Given the description of an element on the screen output the (x, y) to click on. 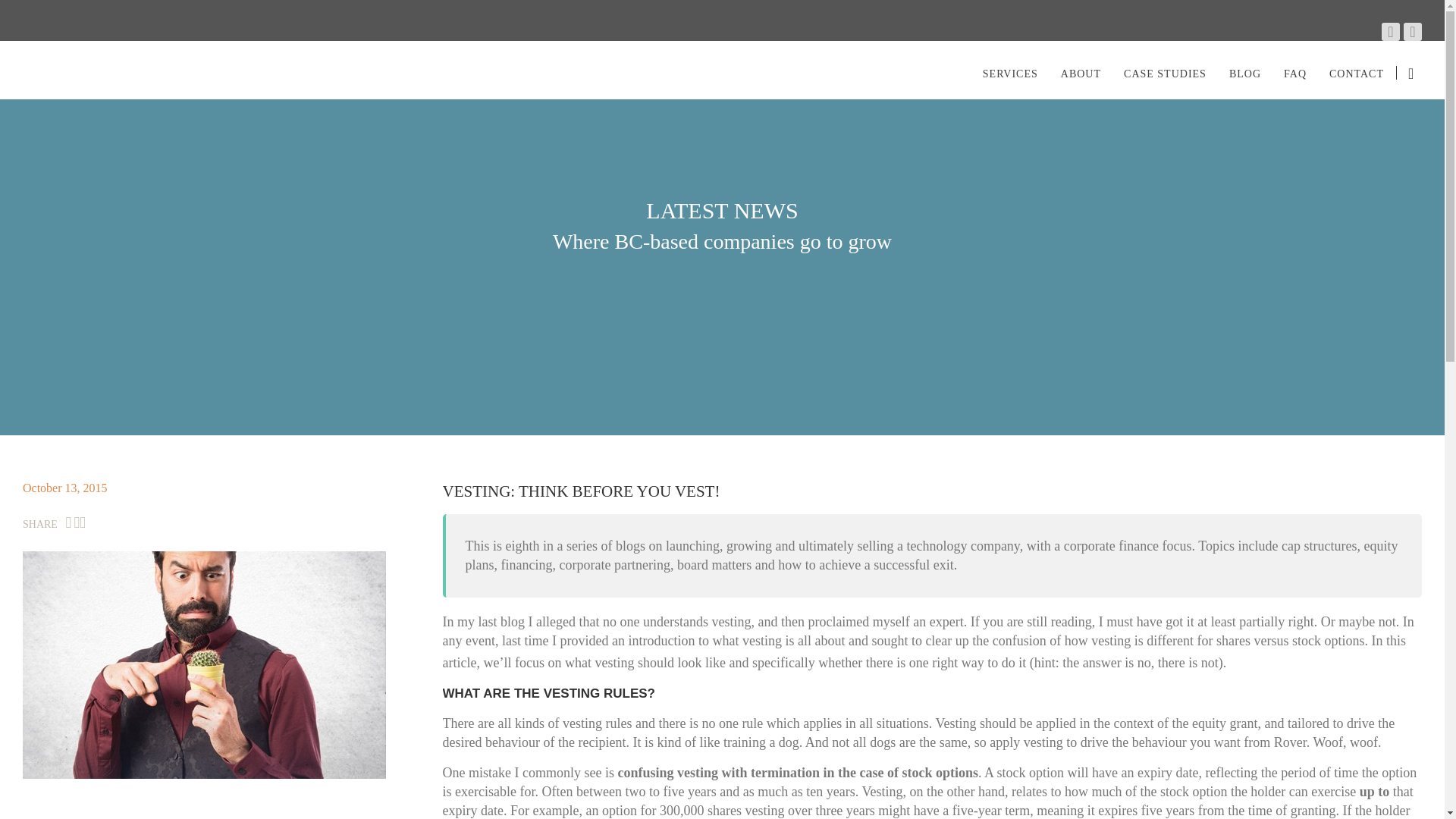
CONTACT (1356, 69)
CASE STUDIES (1165, 69)
Vesting: Think Before You Vest! (204, 664)
David J. Raffa (106, 69)
SERVICES (1010, 69)
David J. Raffa on LinkedIn (1390, 31)
DAVID J. RAFFA (106, 69)
David J. Raffa on Skype (1412, 31)
